Given the description of an element on the screen output the (x, y) to click on. 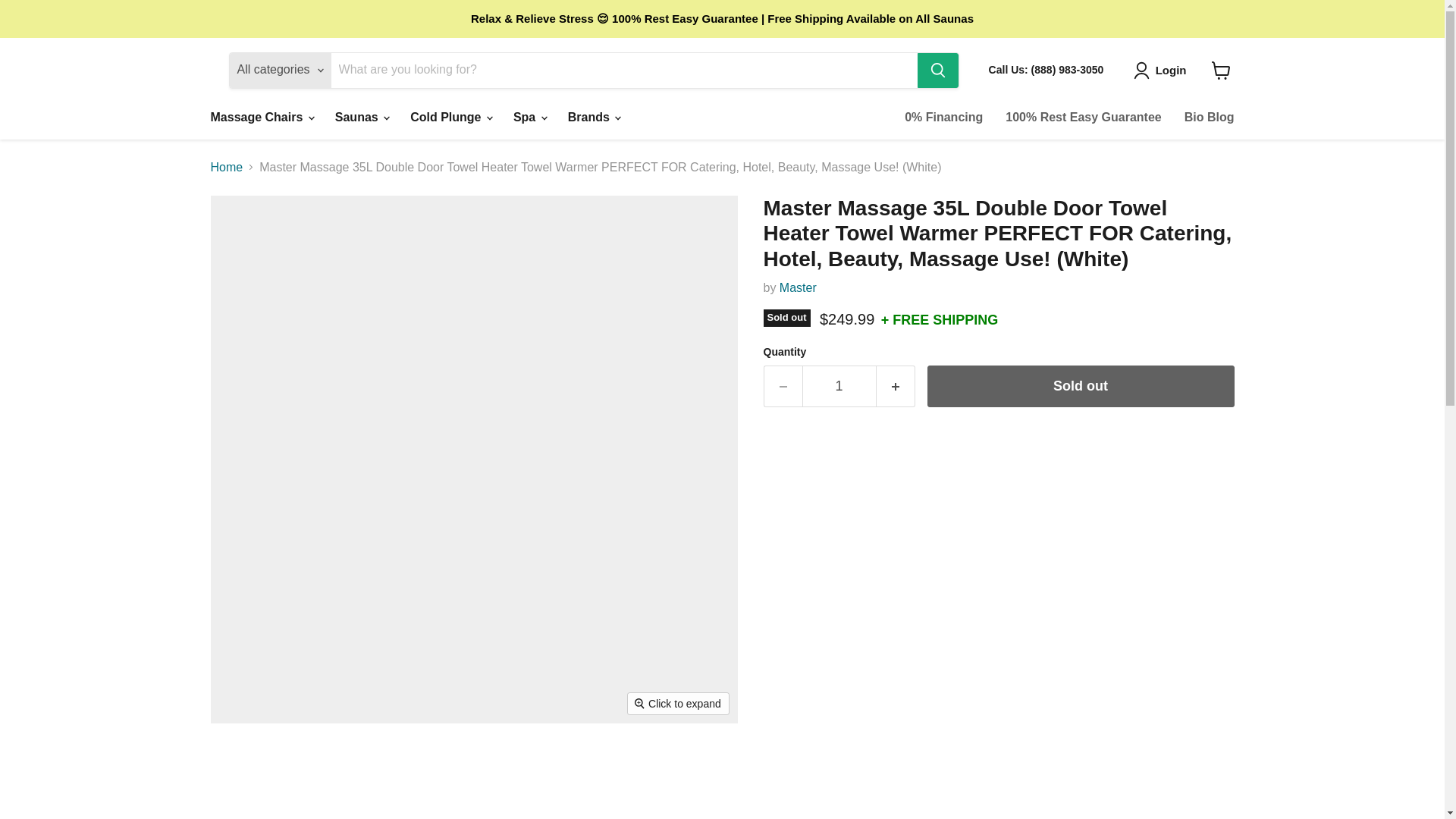
View cart (1221, 69)
Master (797, 287)
Login (1163, 70)
1 (839, 386)
